Given the description of an element on the screen output the (x, y) to click on. 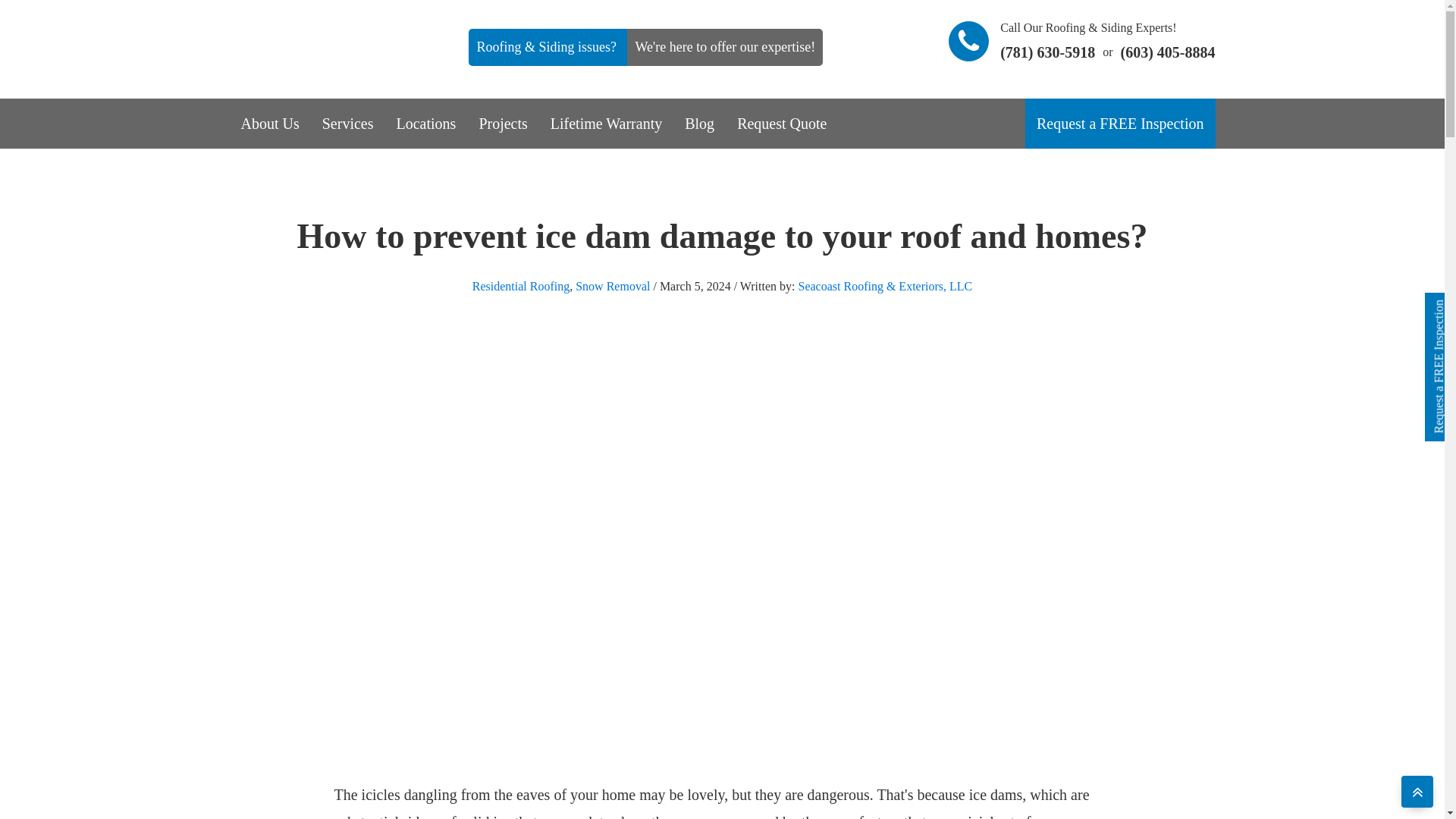
Snow Removal (612, 286)
Lifetime Warranty (605, 123)
Projects (502, 123)
Residential Roofing (520, 286)
Request Quote (781, 123)
Services (348, 123)
Locations (426, 123)
Blog (698, 123)
About Us (269, 123)
